Given the description of an element on the screen output the (x, y) to click on. 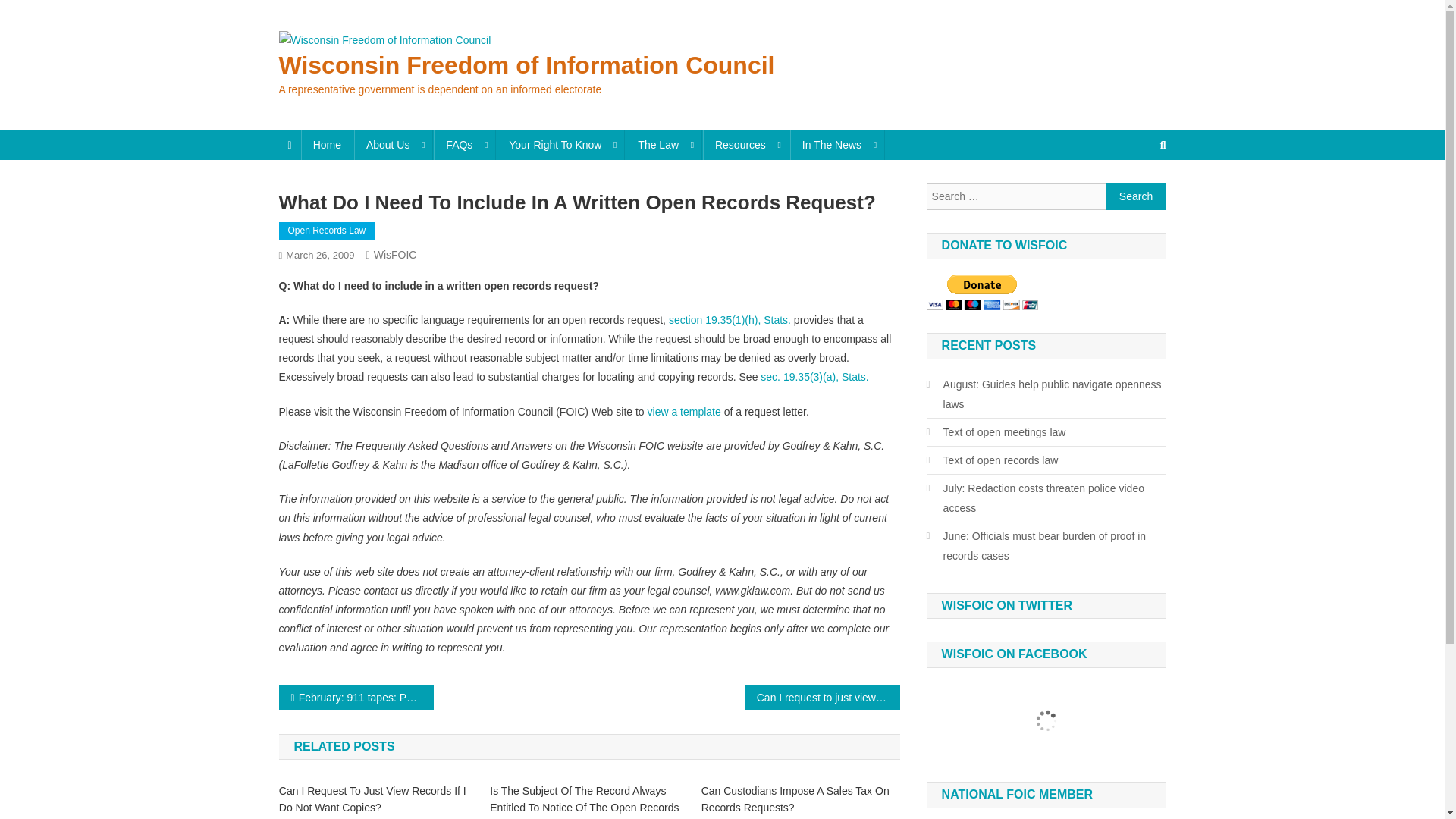
Your Right To Know (560, 144)
Home (327, 144)
About Us (393, 144)
Search (1136, 195)
Wisconsin Freedom of Information Council (526, 64)
Search (1136, 195)
FAQs (464, 144)
